Given the description of an element on the screen output the (x, y) to click on. 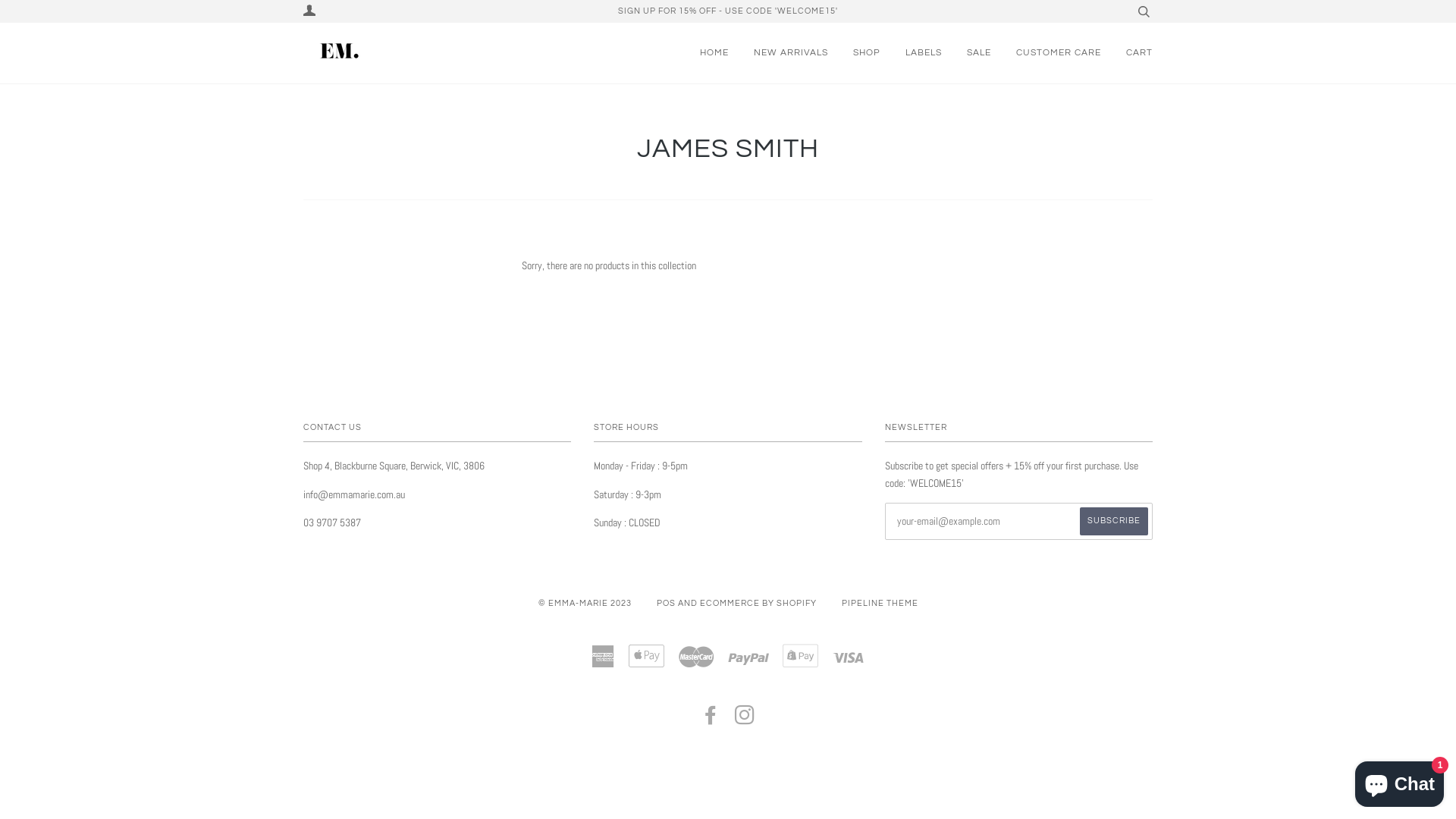
FACEBOOK Element type: text (710, 719)
POS Element type: text (665, 603)
Subscribe Element type: text (1113, 521)
Shopify online store chat Element type: hover (1399, 780)
SALE Element type: text (978, 52)
CUSTOMER CARE Element type: text (1058, 52)
SHOP Element type: text (866, 52)
NEW ARRIVALS Element type: text (790, 52)
PIPELINE THEME Element type: text (879, 603)
LABELS Element type: text (923, 52)
INSTAGRAM Element type: text (744, 719)
HOME Element type: text (713, 52)
CART Element type: text (1139, 52)
ECOMMERCE BY SHOPIFY Element type: text (757, 603)
